Given the description of an element on the screen output the (x, y) to click on. 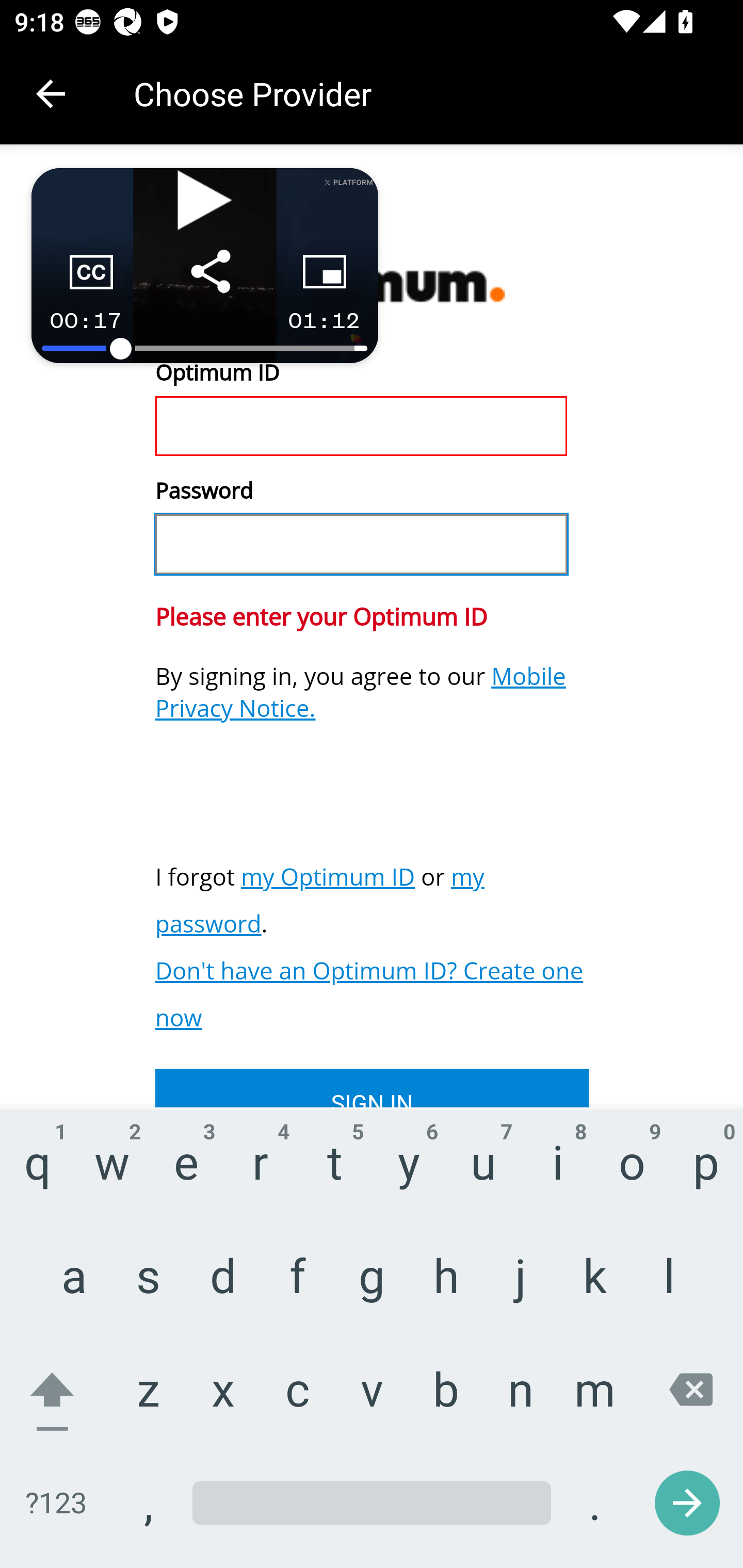
Navigate up (50, 93)
Mobile Privacy Notice. (360, 691)
my password (320, 899)
my Optimum ID (327, 876)
Don't have an Optimum ID? Create one now (370, 993)
SIGN IN (371, 1087)
